Given the description of an element on the screen output the (x, y) to click on. 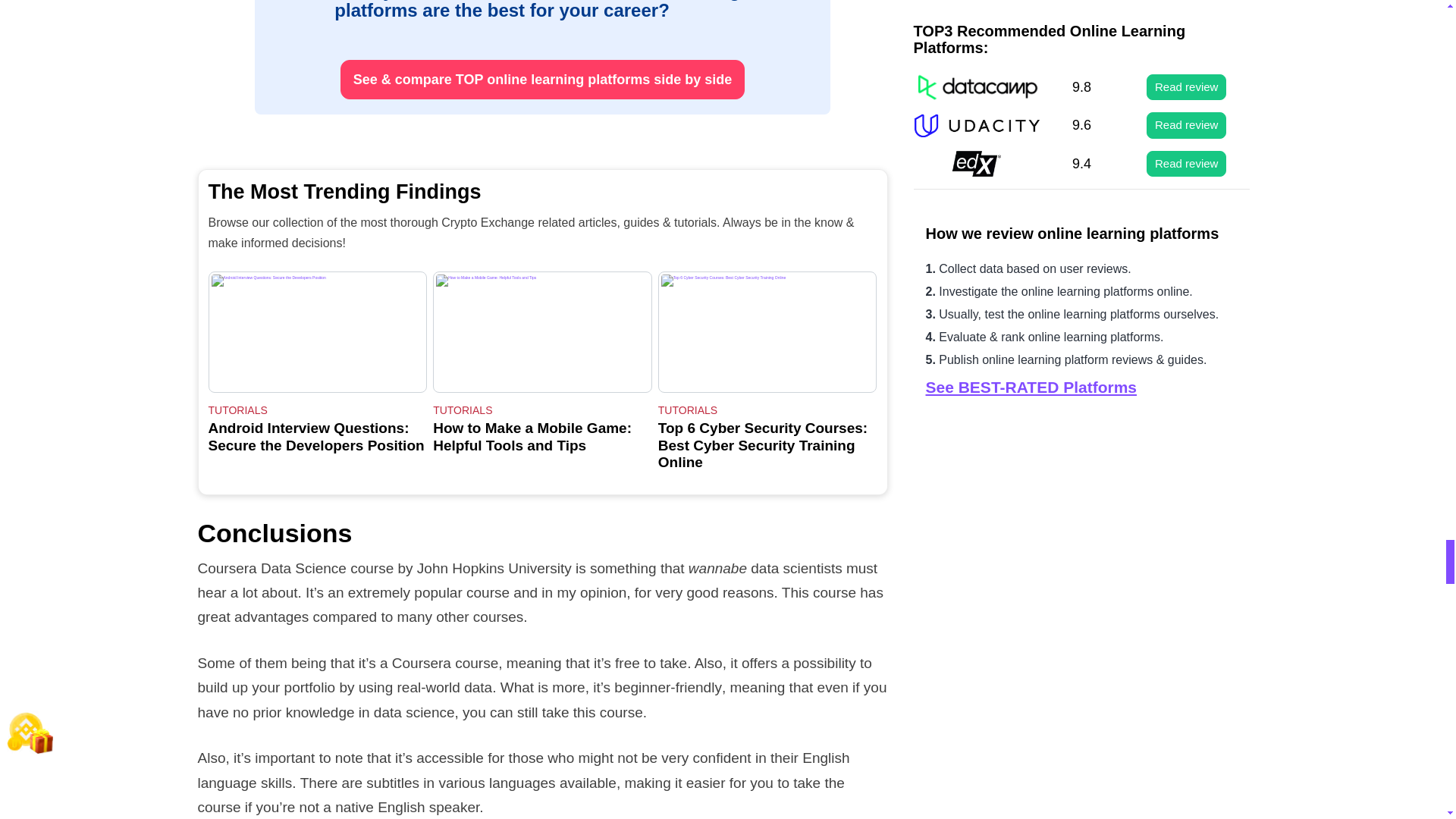
Android Interview Questions: Secure the Developers Position (317, 332)
How to Make a Mobile Game: Helpful Tools and Tips (542, 332)
